Given the description of an element on the screen output the (x, y) to click on. 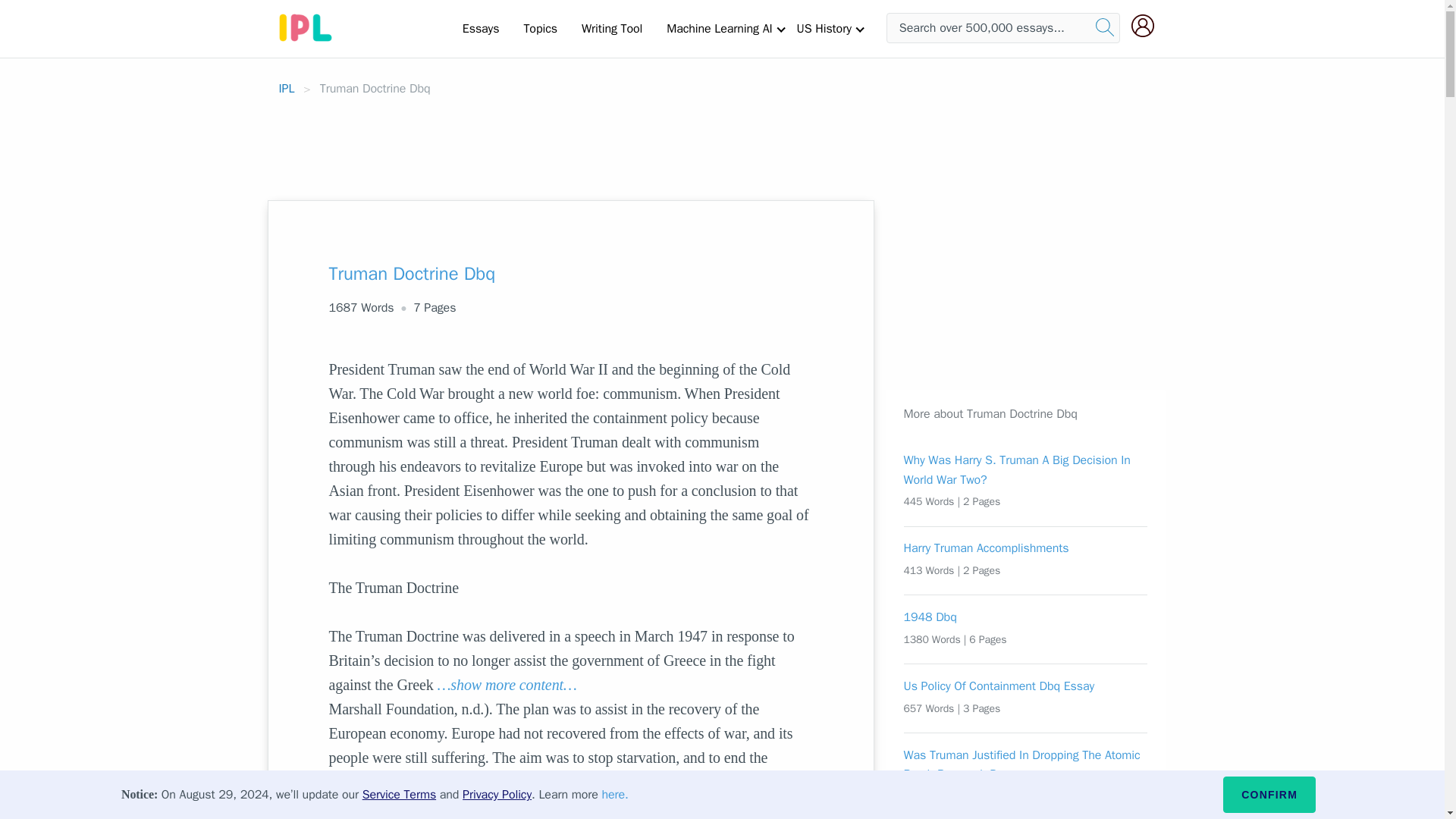
Machine Learning AI (718, 28)
US History (823, 28)
Topics (540, 28)
Writing Tool (611, 28)
Essays (480, 28)
IPL (287, 88)
